Given the description of an element on the screen output the (x, y) to click on. 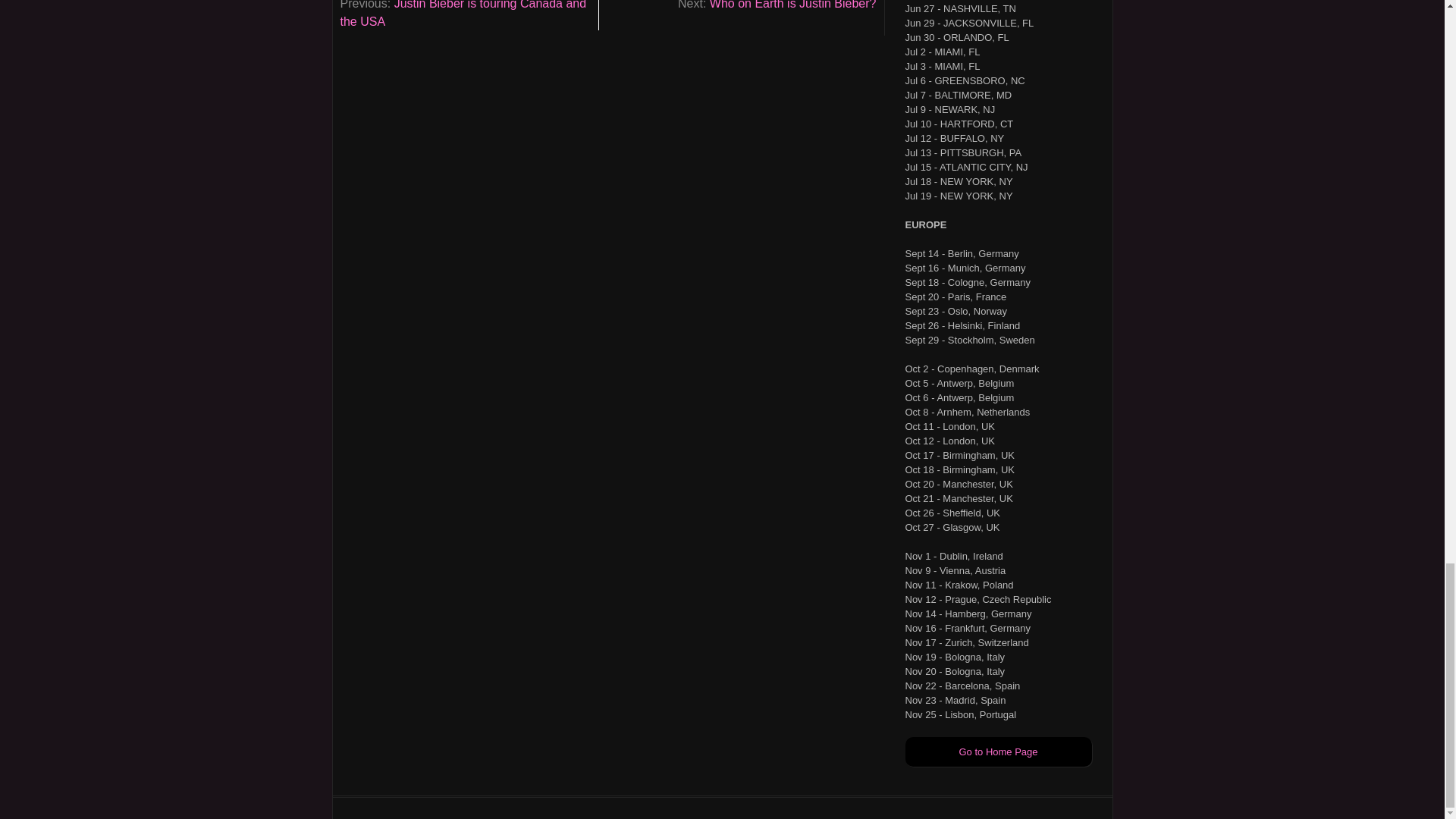
Who on Earth is Justin Bieber? (793, 4)
Go to Home Page (997, 751)
Justin Bieber is touring Canada and the USA (462, 13)
